Given the description of an element on the screen output the (x, y) to click on. 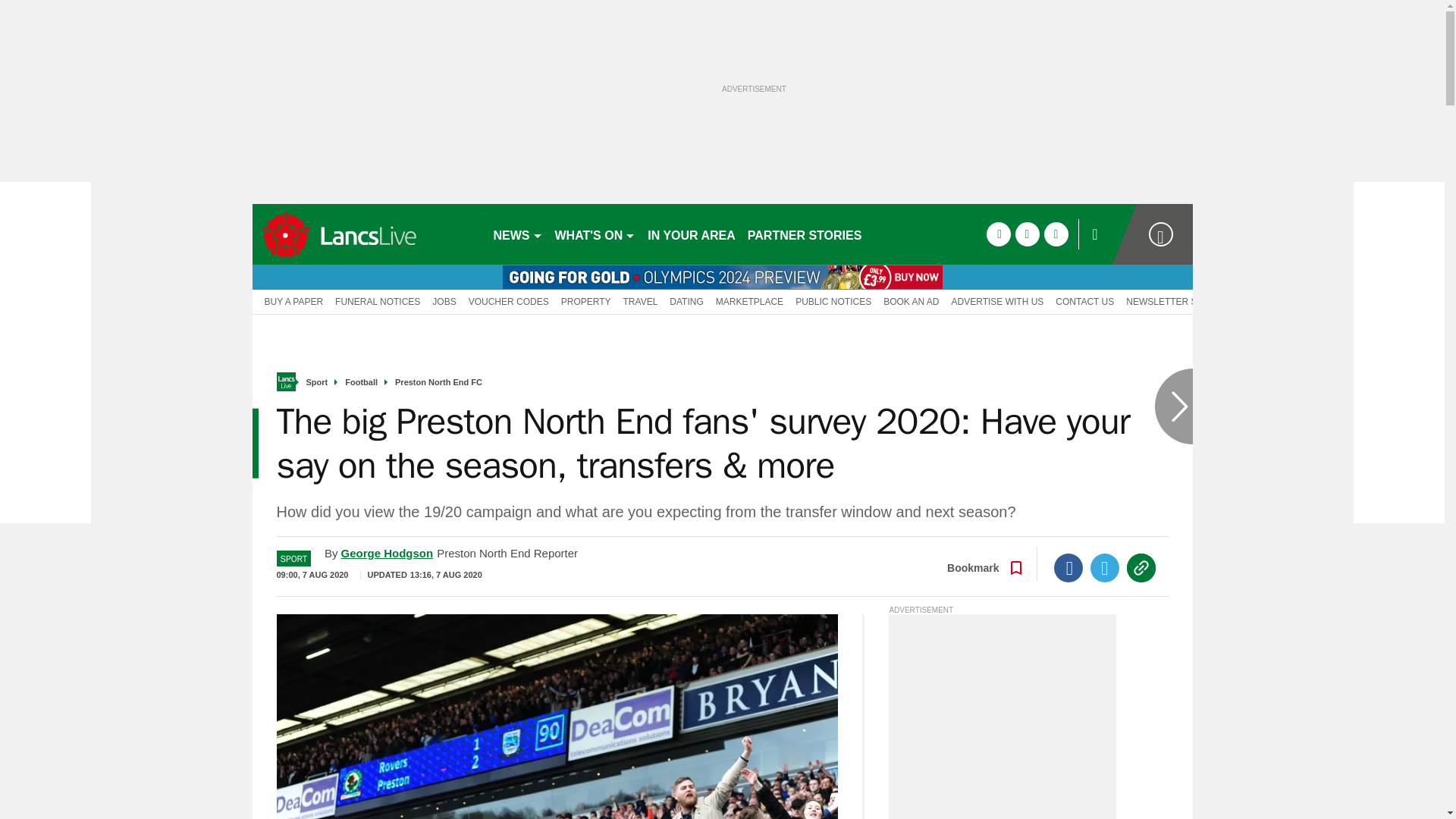
accrington (365, 233)
Twitter (1104, 567)
BOOK AN AD (910, 300)
PUBLIC NOTICES (833, 300)
MARKETPLACE (749, 300)
PARTNER STORIES (804, 233)
twitter (1026, 233)
VOUCHER CODES (508, 300)
NEWS (517, 233)
Facebook (1068, 567)
IN YOUR AREA (691, 233)
instagram (1055, 233)
PROPERTY (585, 300)
